Given the description of an element on the screen output the (x, y) to click on. 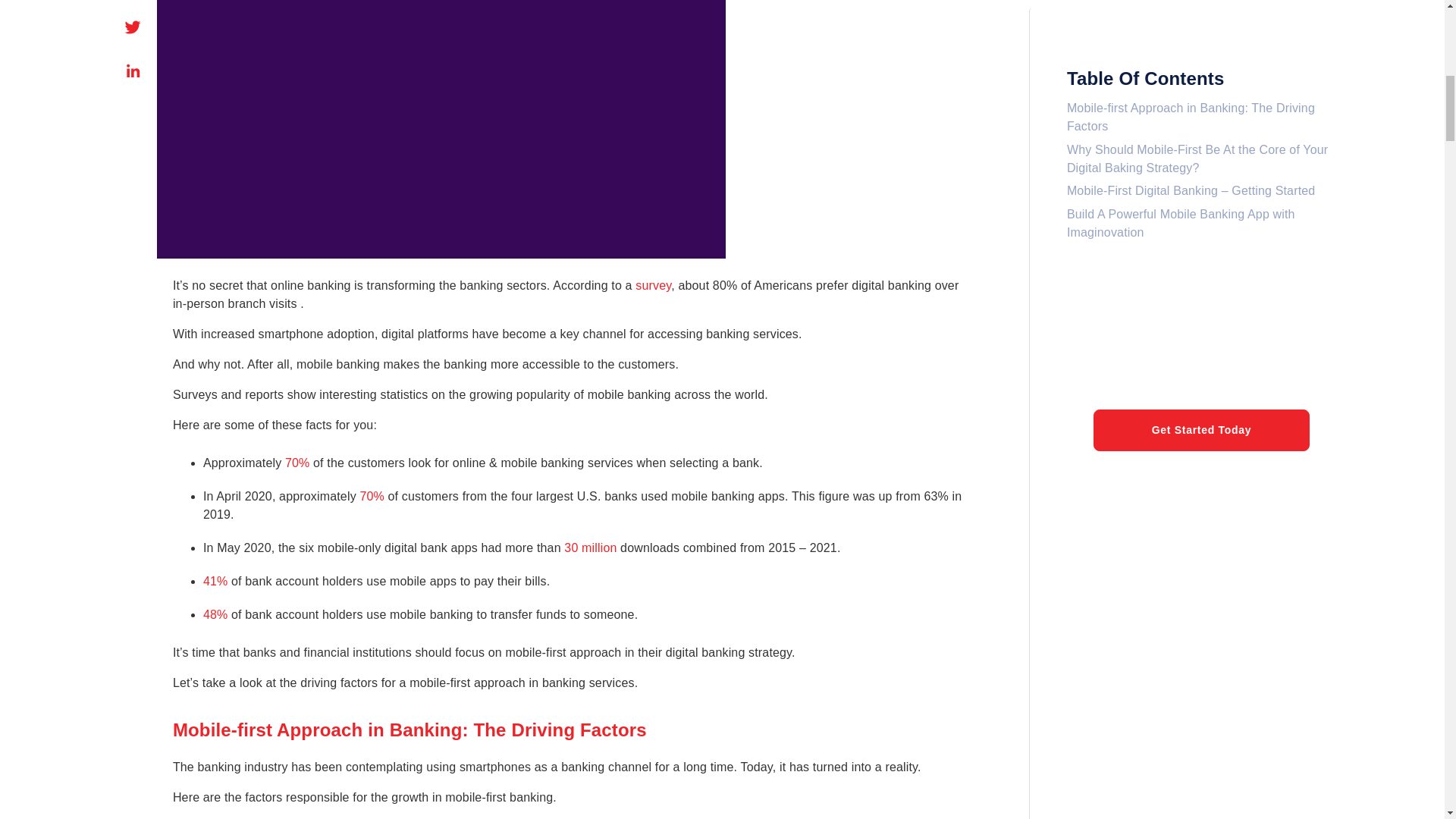
Get Started Today (1200, 324)
Mobile-first Approach in Banking: The Driving Factors (1190, 13)
Build A Powerful Mobile Banking App with Imaginovation (1181, 116)
survey (652, 285)
30 million (589, 547)
